Given the description of an element on the screen output the (x, y) to click on. 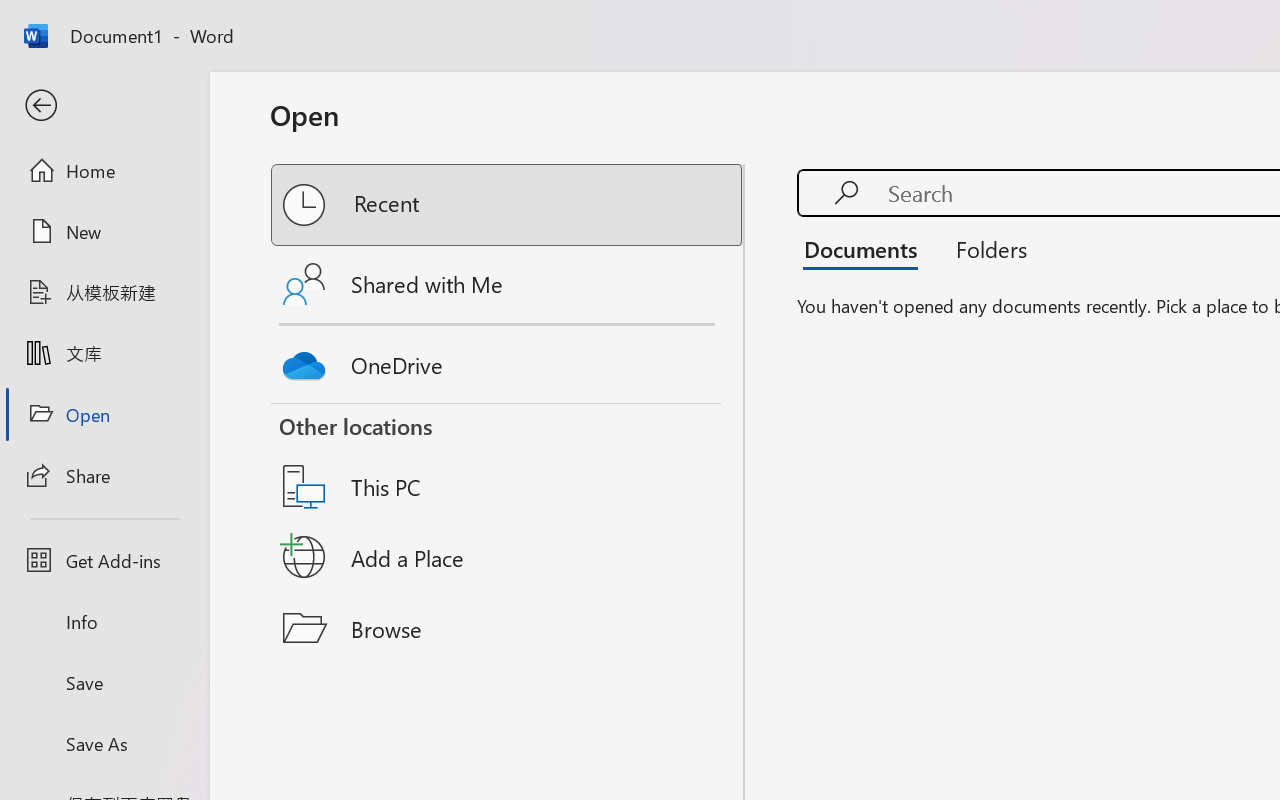
Get Add-ins (104, 560)
Documents (866, 248)
